Given the description of an element on the screen output the (x, y) to click on. 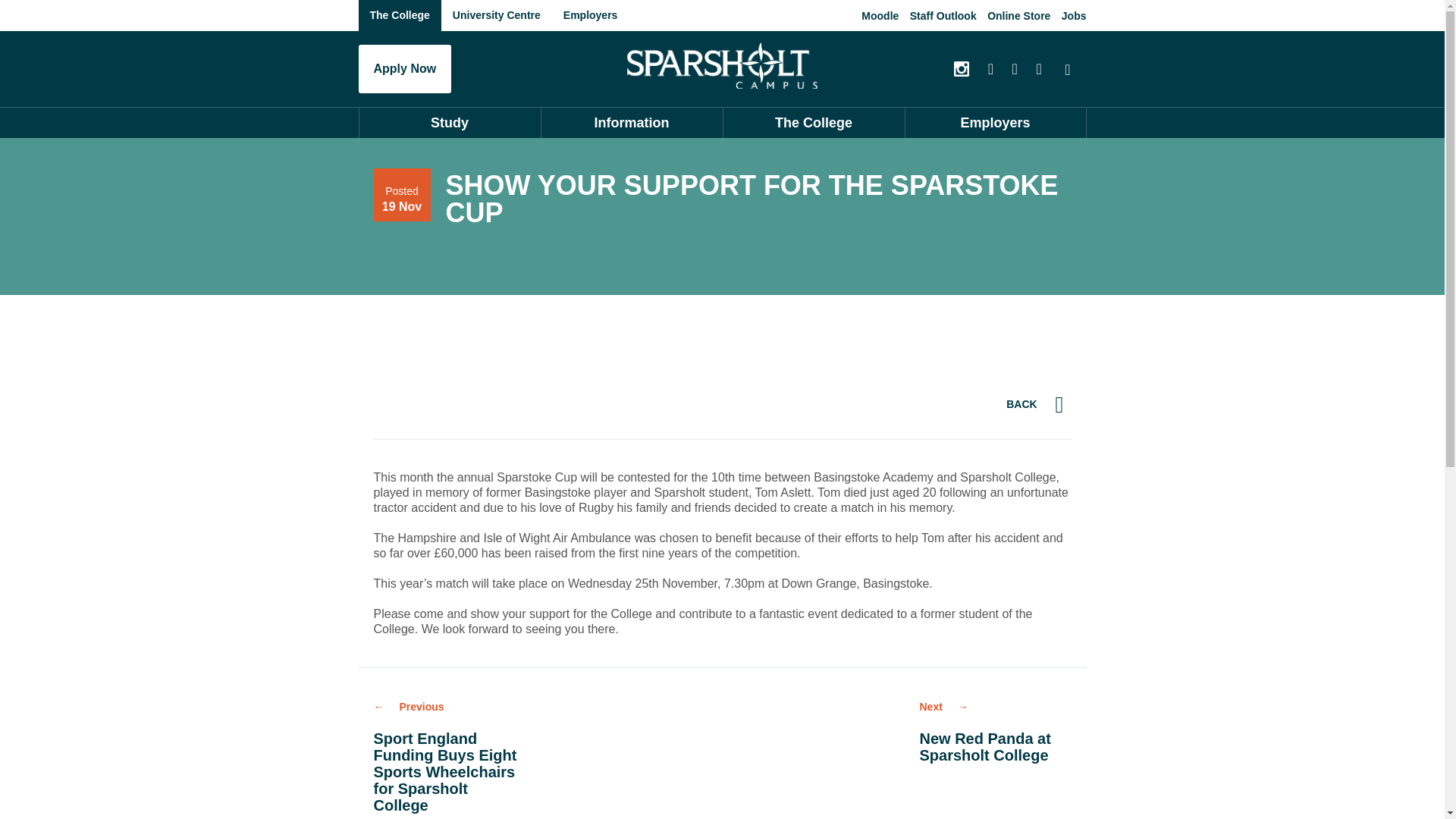
Apply Now (404, 69)
University Centre (496, 15)
Moodle (879, 15)
Online Store (1018, 15)
Staff Outlook (943, 15)
Study (449, 122)
Sparsholt College Hampshire (721, 65)
Jobs (1073, 15)
Employers (589, 15)
Sparsholt College Logo (721, 65)
The College (399, 15)
